Given the description of an element on the screen output the (x, y) to click on. 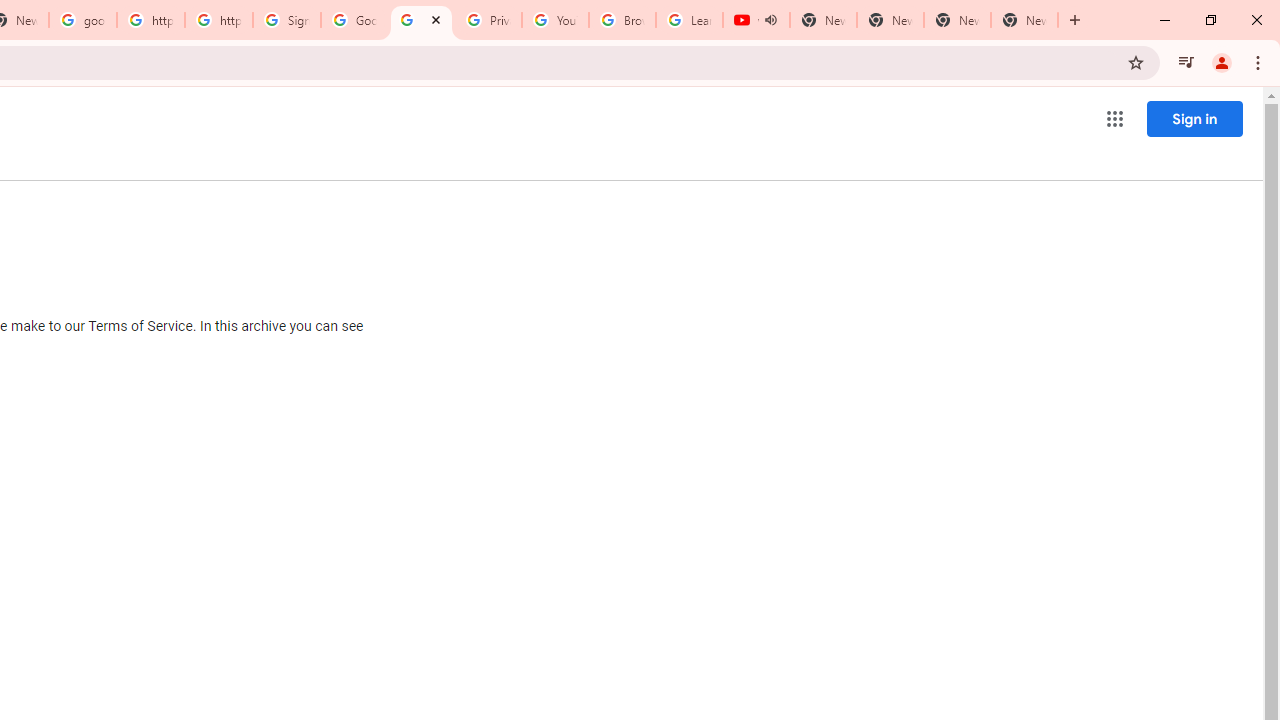
You (1221, 62)
Bookmark this tab (1135, 62)
Google apps (1114, 118)
New Tab (1075, 20)
